Given the description of an element on the screen output the (x, y) to click on. 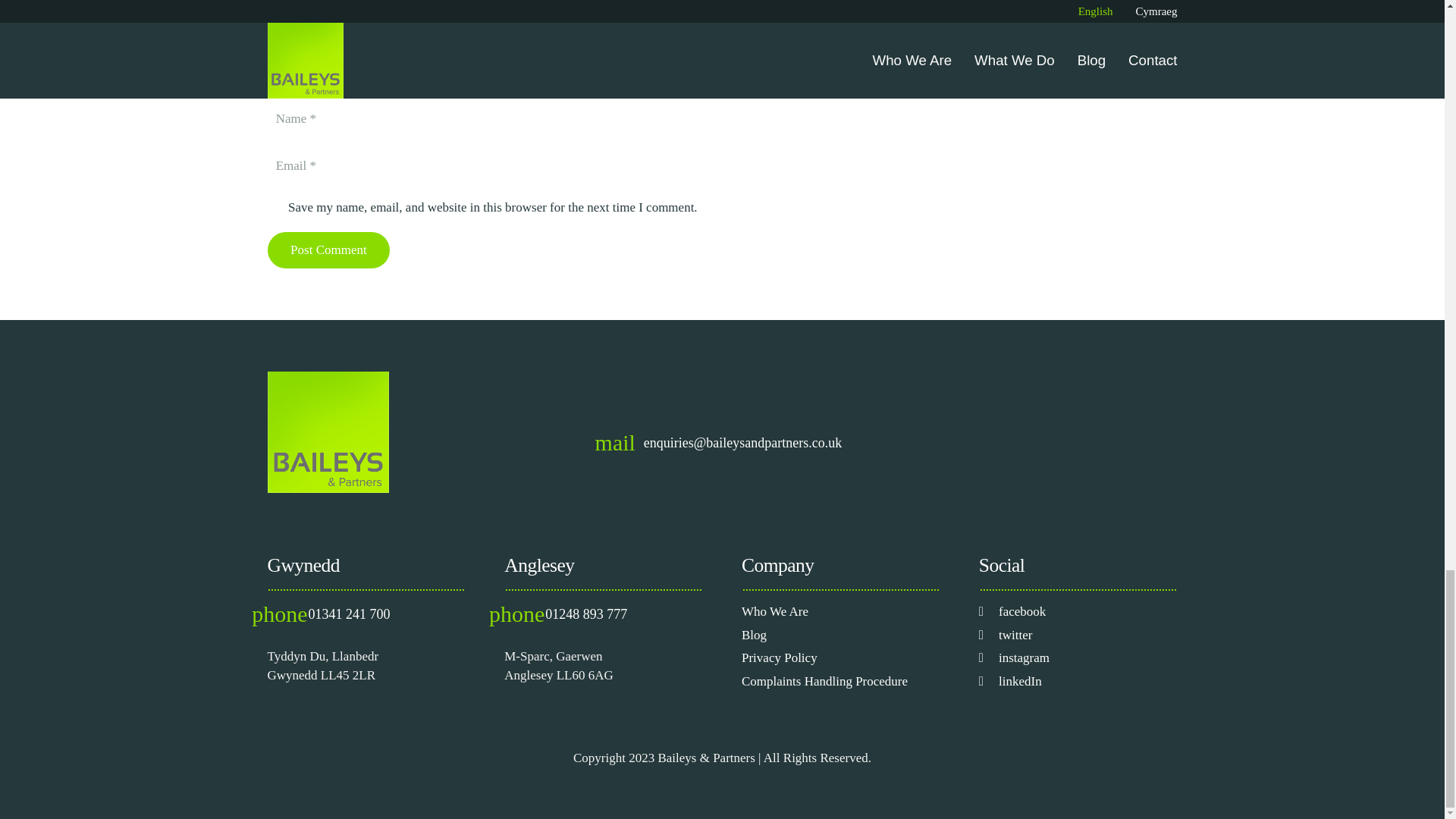
01341 241 700 (348, 614)
1 (274, 207)
Post Comment (328, 249)
phone (286, 614)
Who We Are (774, 611)
Blog (754, 635)
phone (523, 614)
01248 893 777 (585, 614)
Privacy Policy (778, 657)
mail (622, 443)
